Given the description of an element on the screen output the (x, y) to click on. 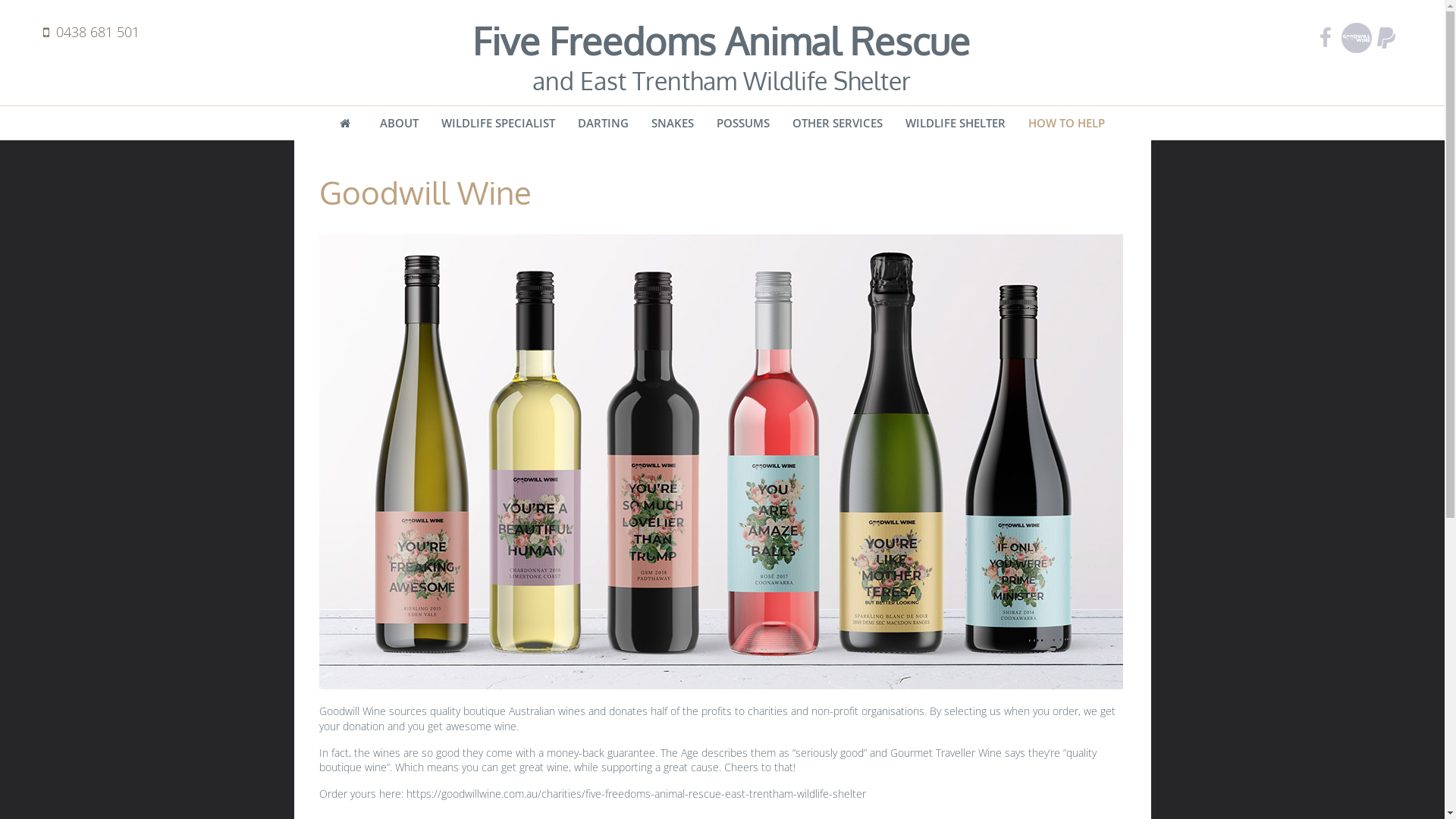
WILDLIFE SPECIALIST Element type: text (497, 123)
DARTING Element type: text (603, 123)
POSSUMS Element type: text (743, 123)
SNAKES Element type: text (672, 123)
WILDLIFE SHELTER Element type: text (955, 123)
